Given the description of an element on the screen output the (x, y) to click on. 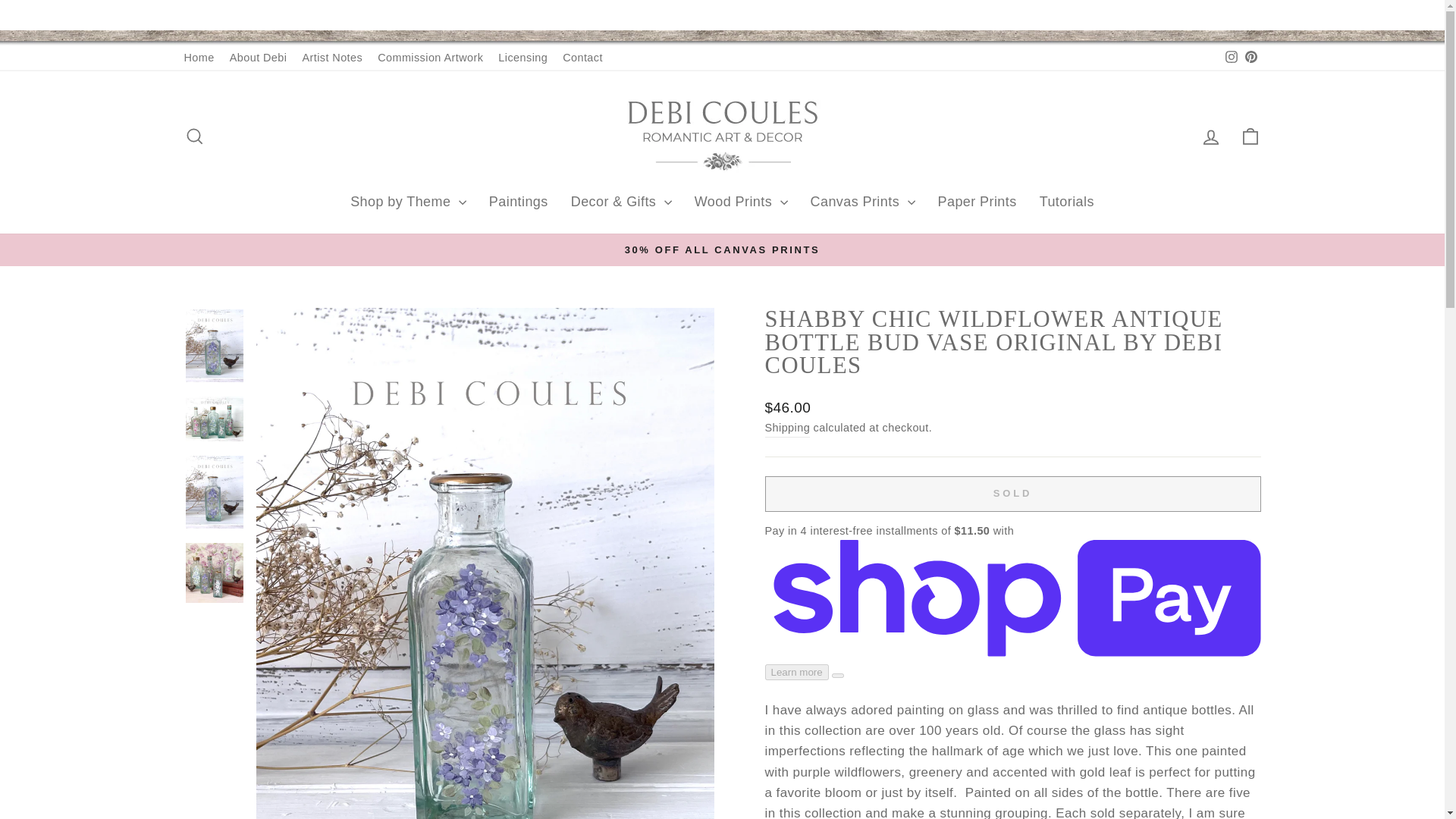
icon-search (194, 136)
instagram (1231, 56)
icon-bag-minimal (1249, 136)
account (1210, 137)
